Given the description of an element on the screen output the (x, y) to click on. 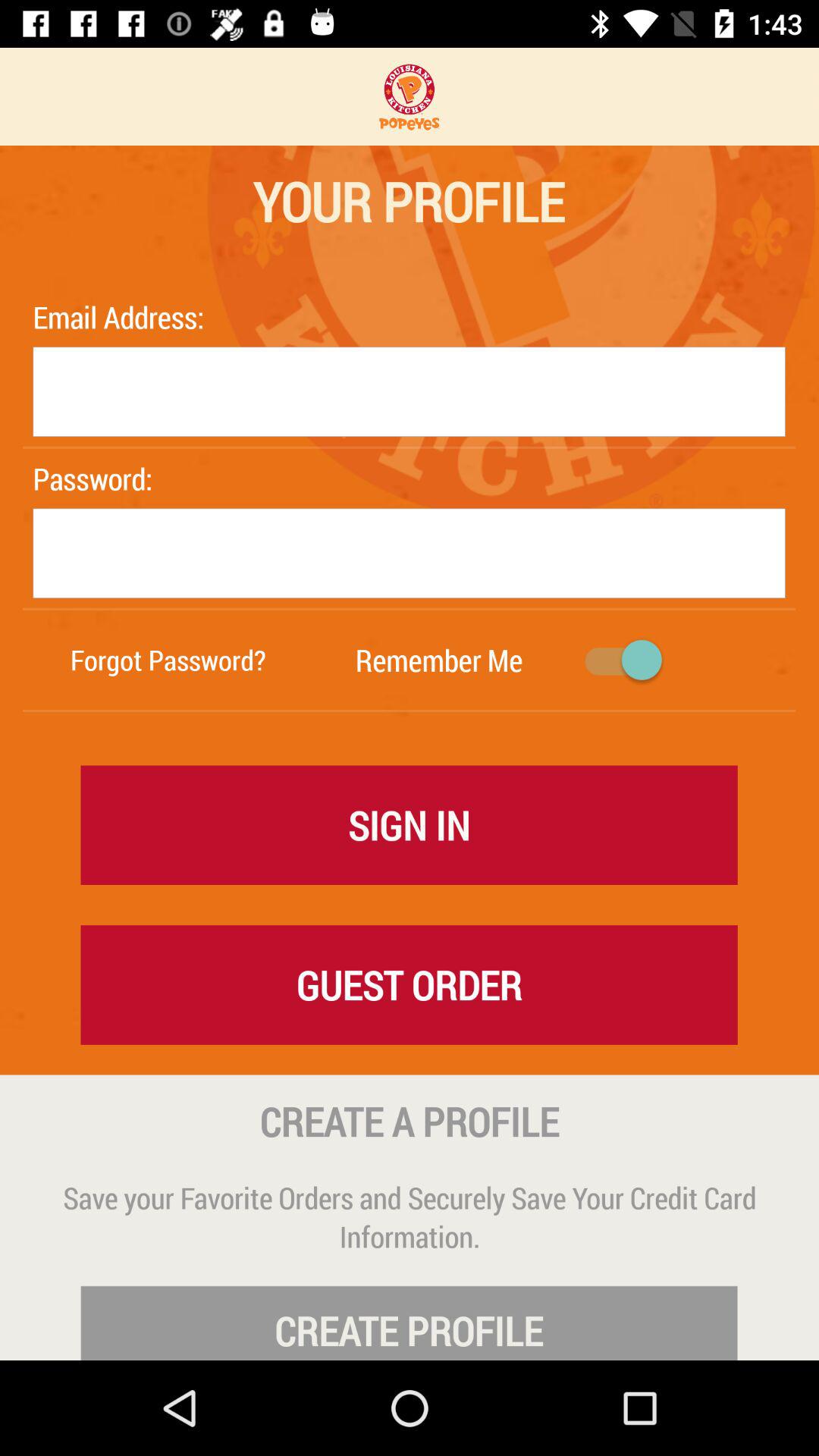
choose the item below create a profile icon (409, 1216)
